Given the description of an element on the screen output the (x, y) to click on. 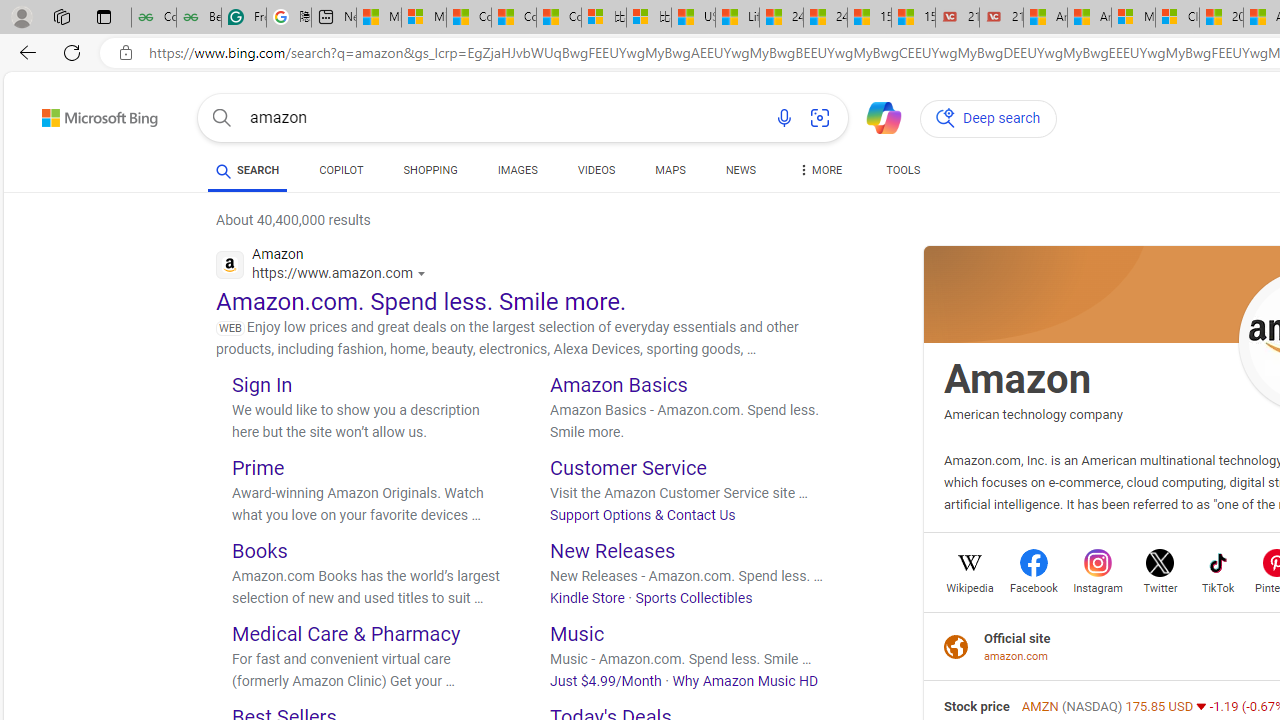
Microsoft Services Agreement (1133, 17)
Free AI Writing Assistance for Students | Grammarly (243, 17)
Global web icon (229, 264)
Kindle Store (587, 597)
SEARCH (247, 170)
20 Ways to Boost Your Protein Intake at Every Meal (1220, 17)
21 Movies That Outdid the Books They Were Based On (1001, 17)
MORE (819, 173)
COPILOT (341, 170)
TikTok (1217, 586)
